Given the description of an element on the screen output the (x, y) to click on. 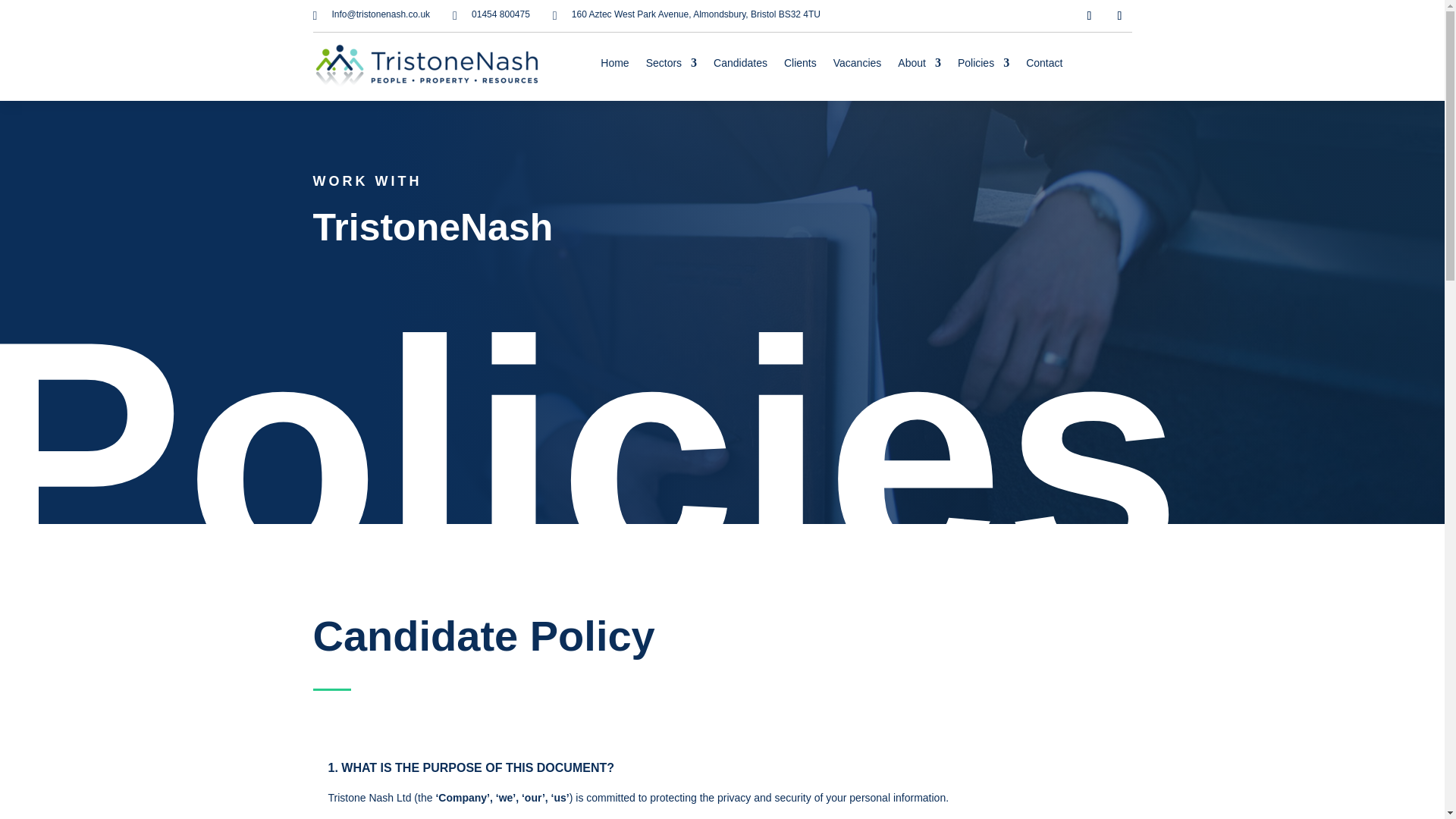
Clients (800, 65)
Follow on LinkedIn (1118, 15)
Policies (983, 65)
Sectors (671, 65)
Candidates (740, 65)
Vacancies (857, 65)
About (919, 65)
Home (613, 65)
01454 800475 (500, 14)
TristoneNash-LOGO-C-on-white-RGB (426, 66)
Contact (1044, 65)
Follow on X (1088, 15)
